Given the description of an element on the screen output the (x, y) to click on. 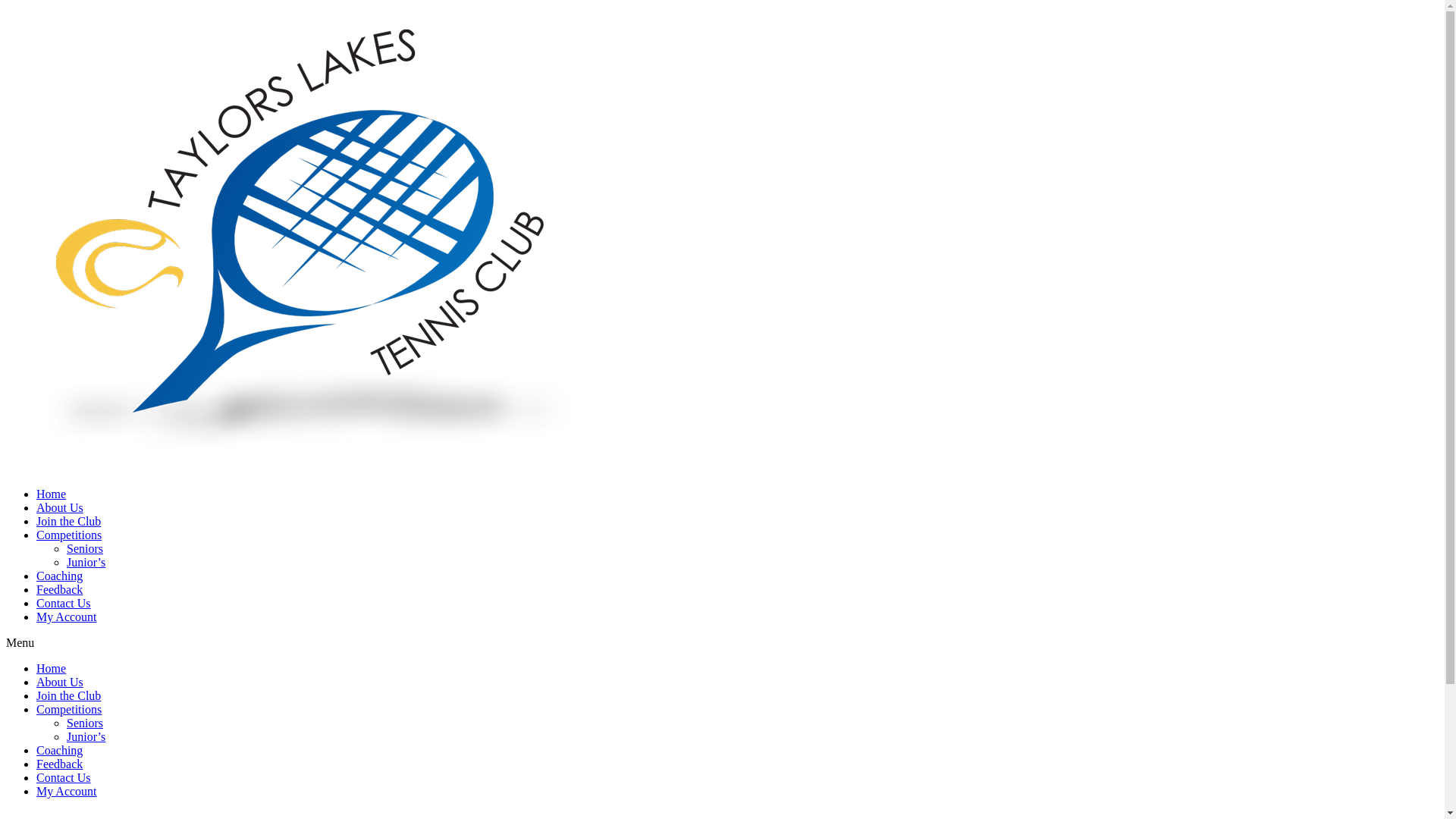
Coaching Element type: text (59, 749)
Competitions Element type: text (68, 708)
Coaching Element type: text (59, 575)
Feedback Element type: text (59, 589)
Join the Club Element type: text (68, 520)
Contact Us Element type: text (63, 602)
Feedback Element type: text (59, 763)
My Account Element type: text (66, 790)
Home Element type: text (50, 493)
Seniors Element type: text (84, 722)
About Us Element type: text (59, 681)
Seniors Element type: text (84, 548)
Competitions Element type: text (68, 534)
Join the Club Element type: text (68, 695)
Contact Us Element type: text (63, 777)
About Us Element type: text (59, 507)
My Account Element type: text (66, 616)
Home Element type: text (50, 668)
